Given the description of an element on the screen output the (x, y) to click on. 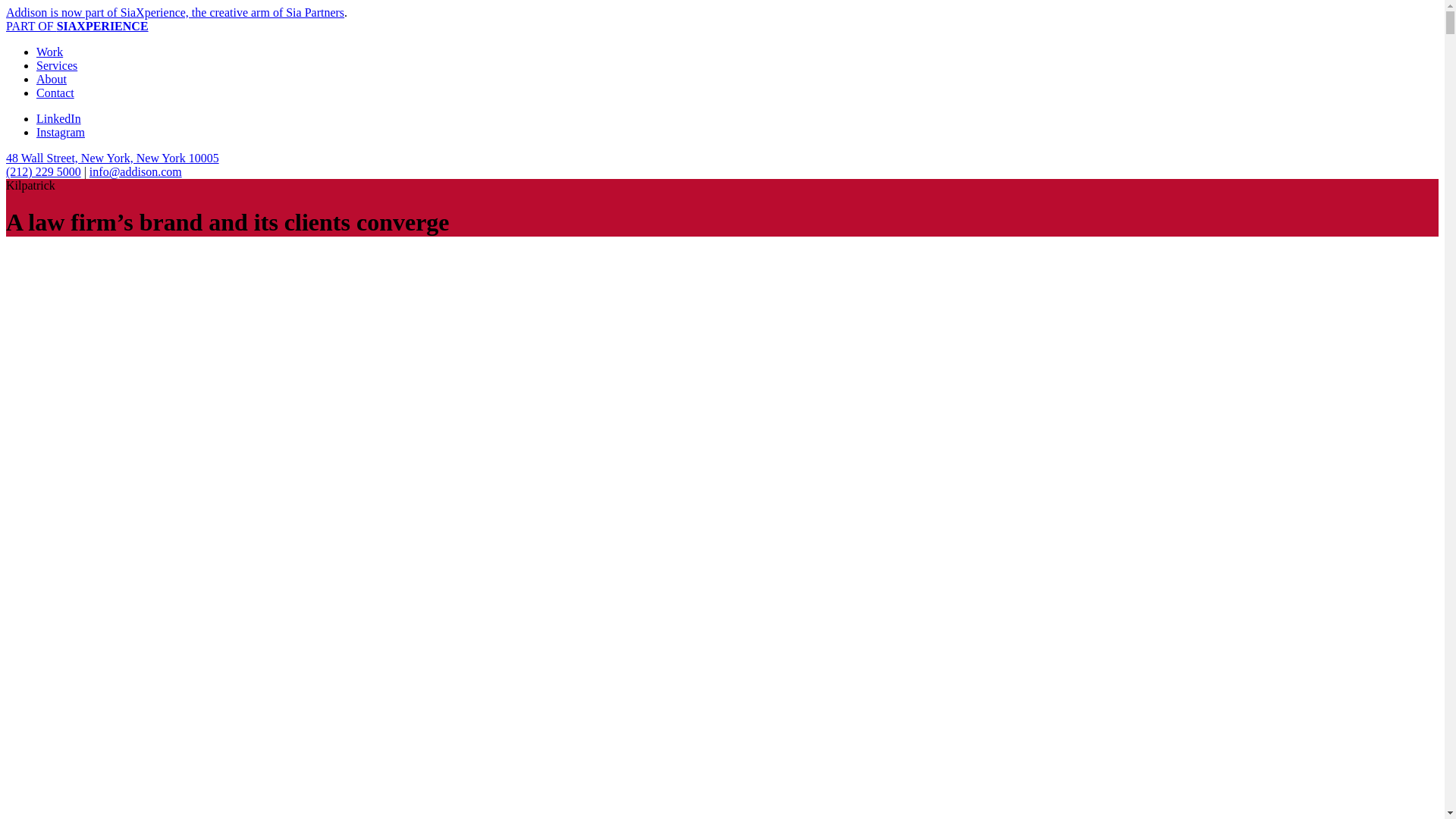
Services (56, 65)
Instagram (60, 132)
Work (49, 51)
Contact (55, 92)
48 Wall Street, New York, New York 10005 (112, 157)
LinkedIn (58, 118)
About (51, 78)
PART OF SIAXPERIENCE (76, 25)
